Given the description of an element on the screen output the (x, y) to click on. 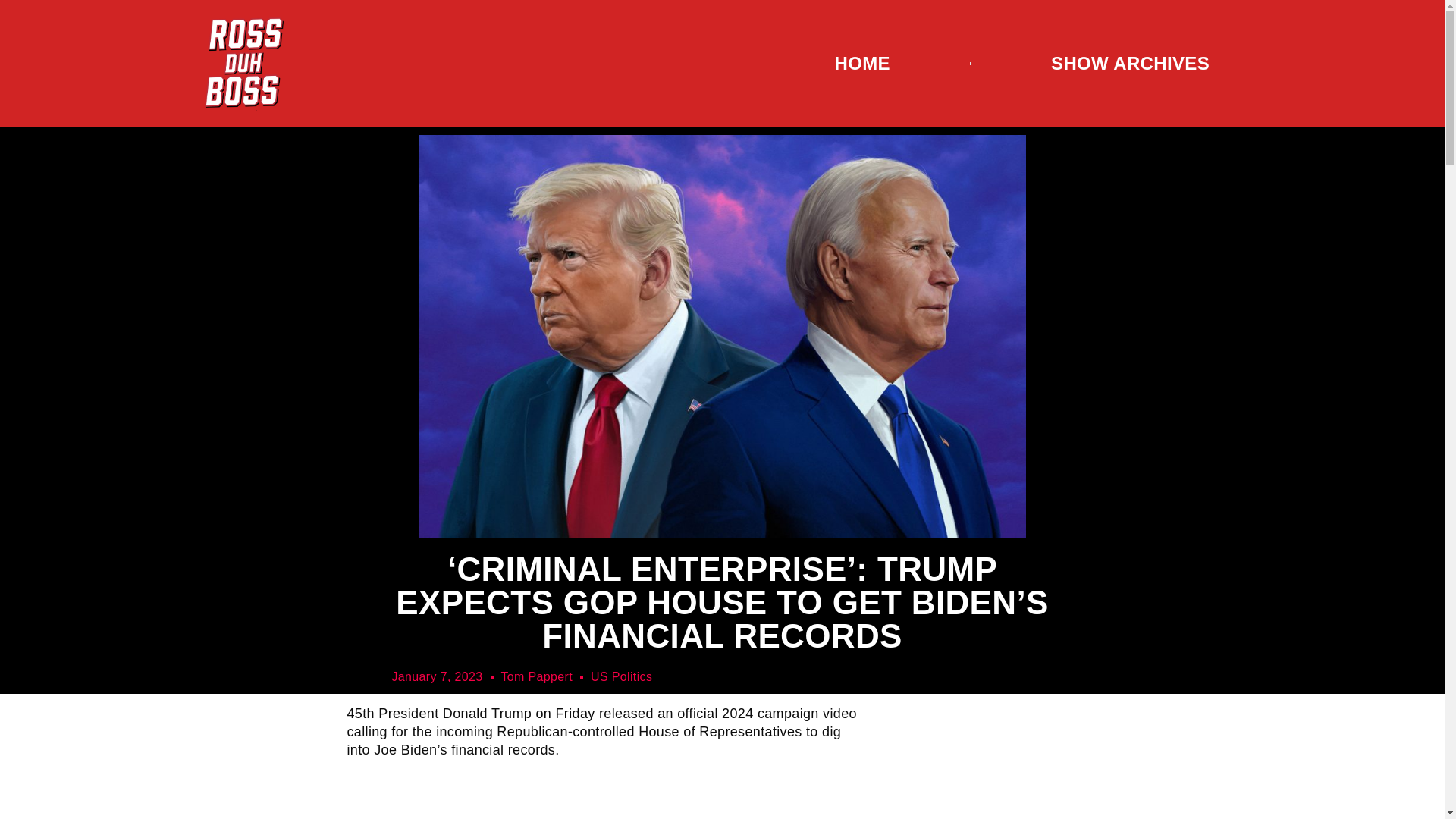
Advertisement (607, 794)
Tom Pappert (536, 677)
HOME (861, 62)
US Politics (621, 676)
SHOW ARCHIVES (1129, 62)
January 7, 2023 (436, 677)
